Given the description of an element on the screen output the (x, y) to click on. 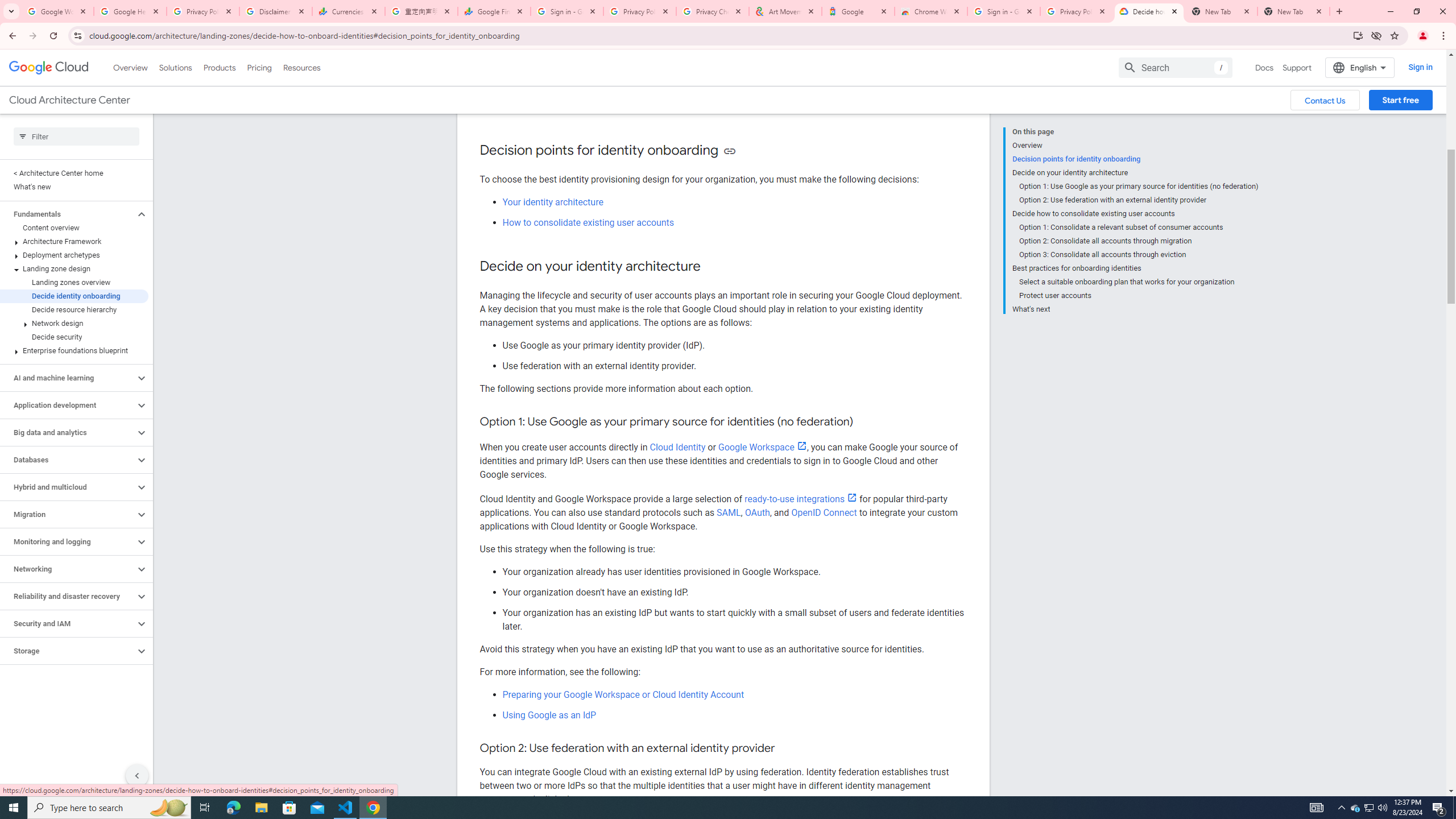
Support (1296, 67)
Contact Us (1324, 100)
Products (218, 67)
SAML (728, 512)
OAuth (757, 512)
Reliability and disaster recovery (67, 596)
What's next (1134, 307)
overview of identity and access management (715, 99)
Big data and analytics (67, 432)
Google (857, 11)
